Given the description of an element on the screen output the (x, y) to click on. 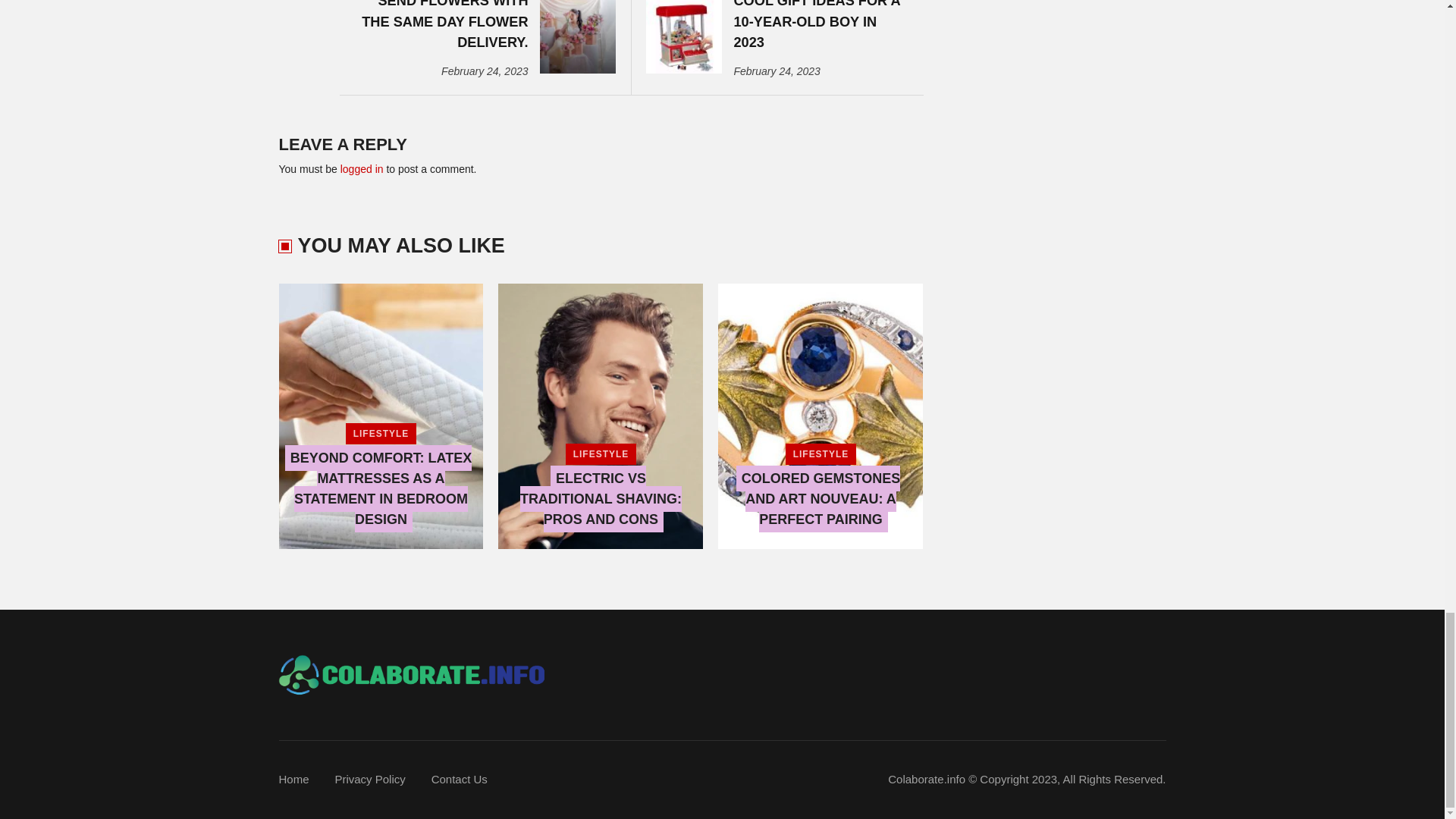
1:02 pm (484, 70)
SEND FLOWERS WITH THE SAME DAY FLOWER DELIVERY. (440, 26)
